Given the description of an element on the screen output the (x, y) to click on. 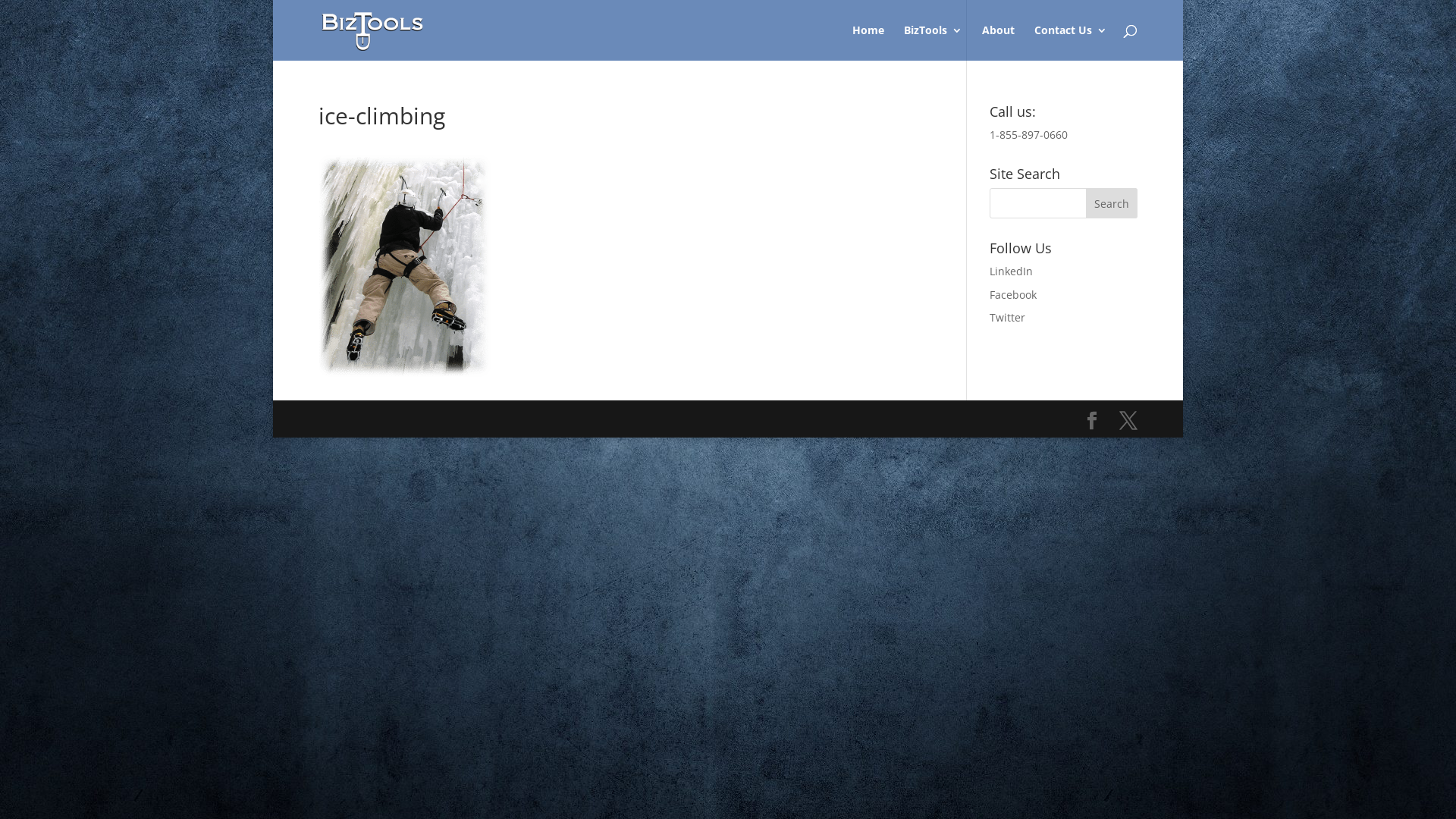
LinkedIn Element type: text (1063, 271)
Home Element type: text (868, 42)
1-855-897-0660 Element type: text (1028, 134)
Contact Us Element type: text (1070, 42)
Facebook Element type: text (1063, 294)
Twitter Element type: text (1063, 317)
BizTools Element type: text (932, 42)
Search Element type: text (1111, 203)
About Element type: text (998, 42)
